Given the description of an element on the screen output the (x, y) to click on. 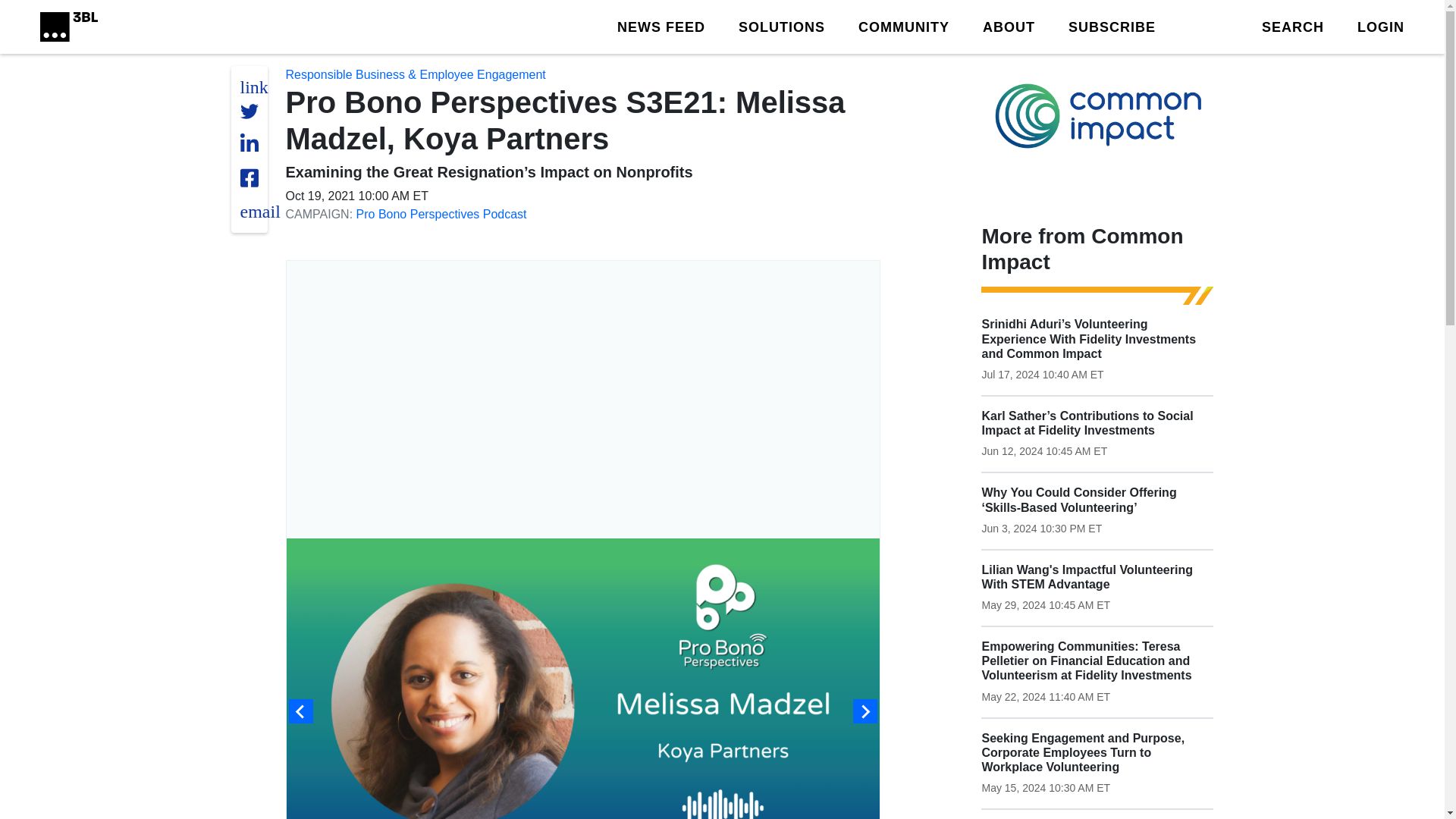
SOLUTIONS (781, 26)
COMMUNITY (904, 26)
SUBSCRIBE (1112, 26)
link to 3 B L Media's Twitter (253, 87)
Share via email (259, 211)
ABOUT (1008, 26)
NEWS FEED (660, 26)
